Given the description of an element on the screen output the (x, y) to click on. 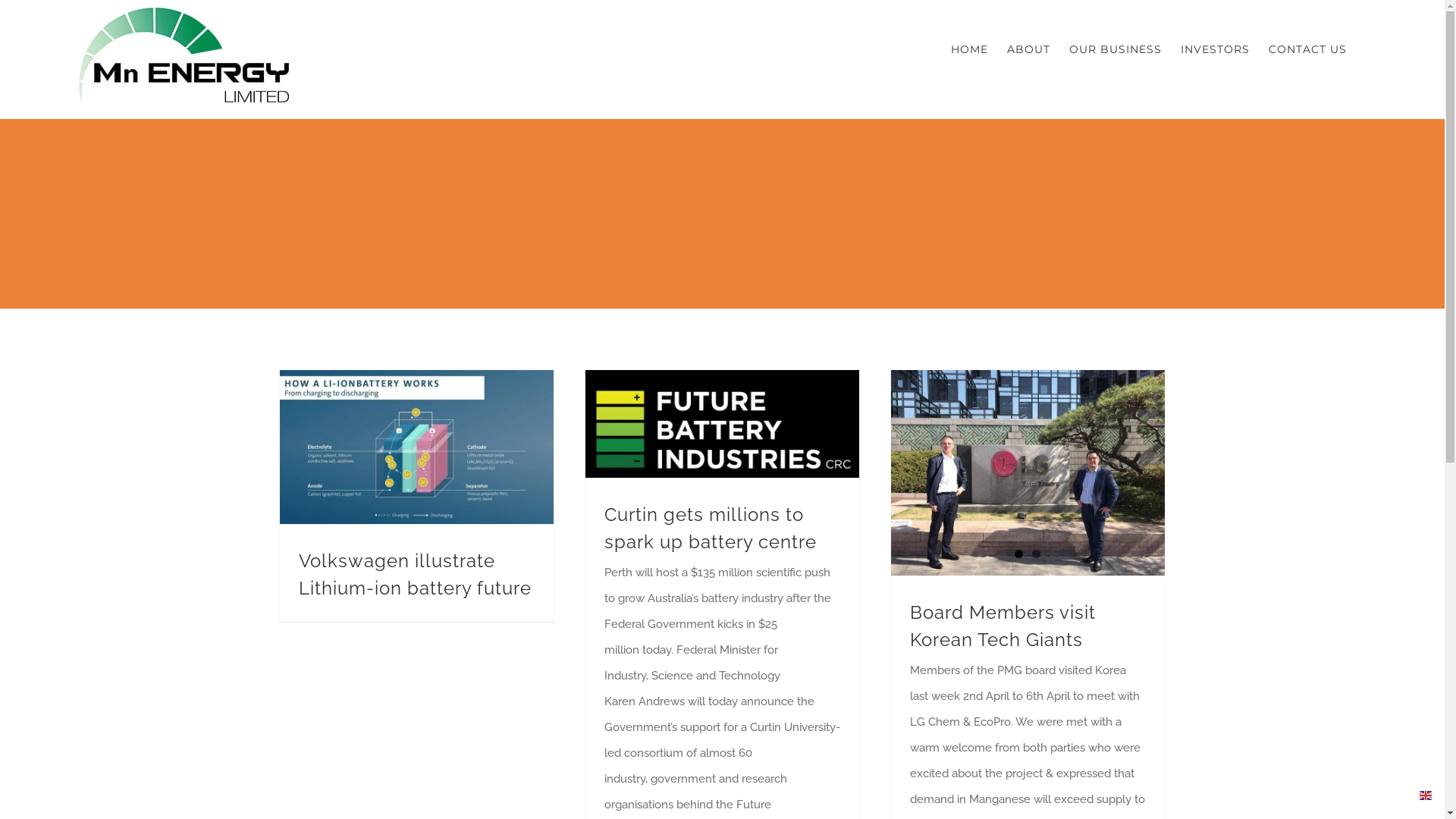
English Element type: hover (1426, 794)
Curtin gets millions to spark up battery centre Element type: text (709, 527)
OUR BUSINESS Element type: text (1115, 49)
CONTACT US Element type: text (1307, 49)
2 Element type: text (1036, 553)
HOME Element type: text (969, 49)
Volkswagen illustrate Lithium-ion battery future Element type: text (414, 574)
1 Element type: text (1018, 553)
INVESTORS Element type: text (1214, 49)
Board Members visit Korean Tech Giants Element type: text (1002, 625)
ABOUT Element type: text (1028, 49)
